Given the description of an element on the screen output the (x, y) to click on. 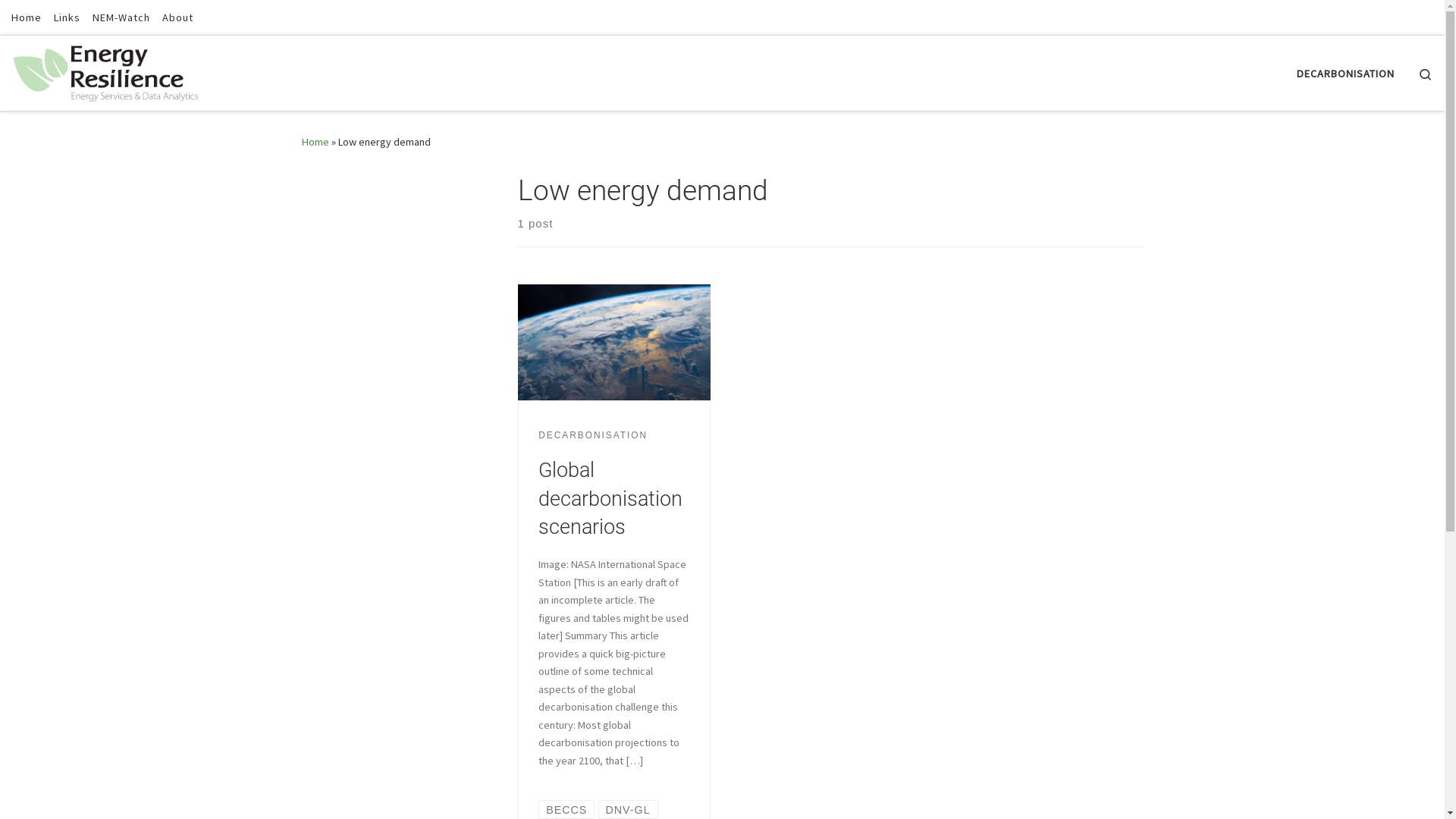
Global decarbonisation scenarios Element type: text (610, 498)
NEM-Watch Element type: text (121, 17)
Home Element type: text (315, 141)
Skip to content Element type: text (57, 21)
DECARBONISATION Element type: text (1345, 73)
DECARBONISATION Element type: text (592, 435)
About Element type: text (177, 17)
Home Element type: text (26, 17)
Links Element type: text (66, 17)
Search Element type: text (1424, 73)
